Given the description of an element on the screen output the (x, y) to click on. 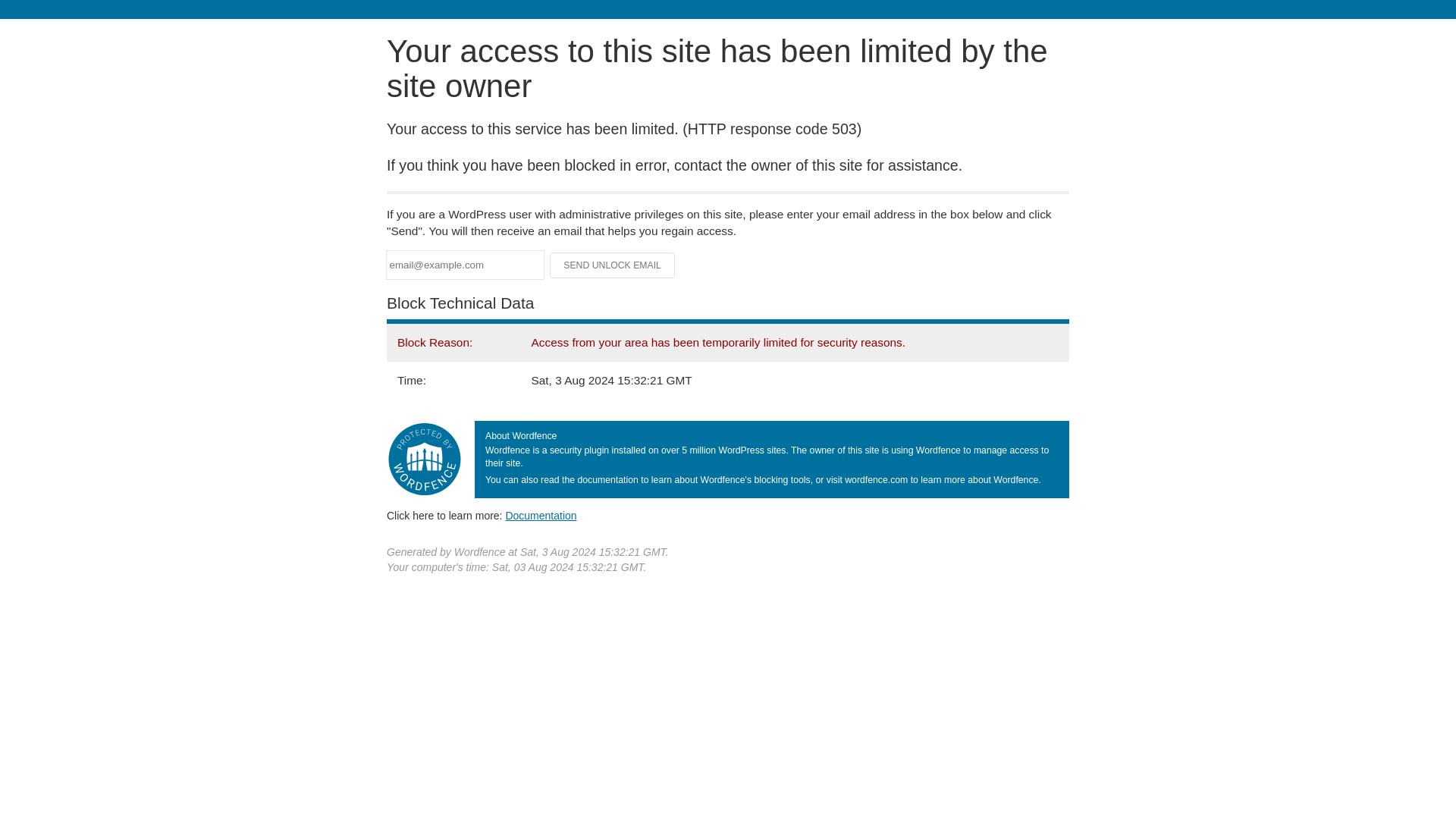
Documentation (540, 515)
Send Unlock Email (612, 265)
Send Unlock Email (612, 265)
